Given the description of an element on the screen output the (x, y) to click on. 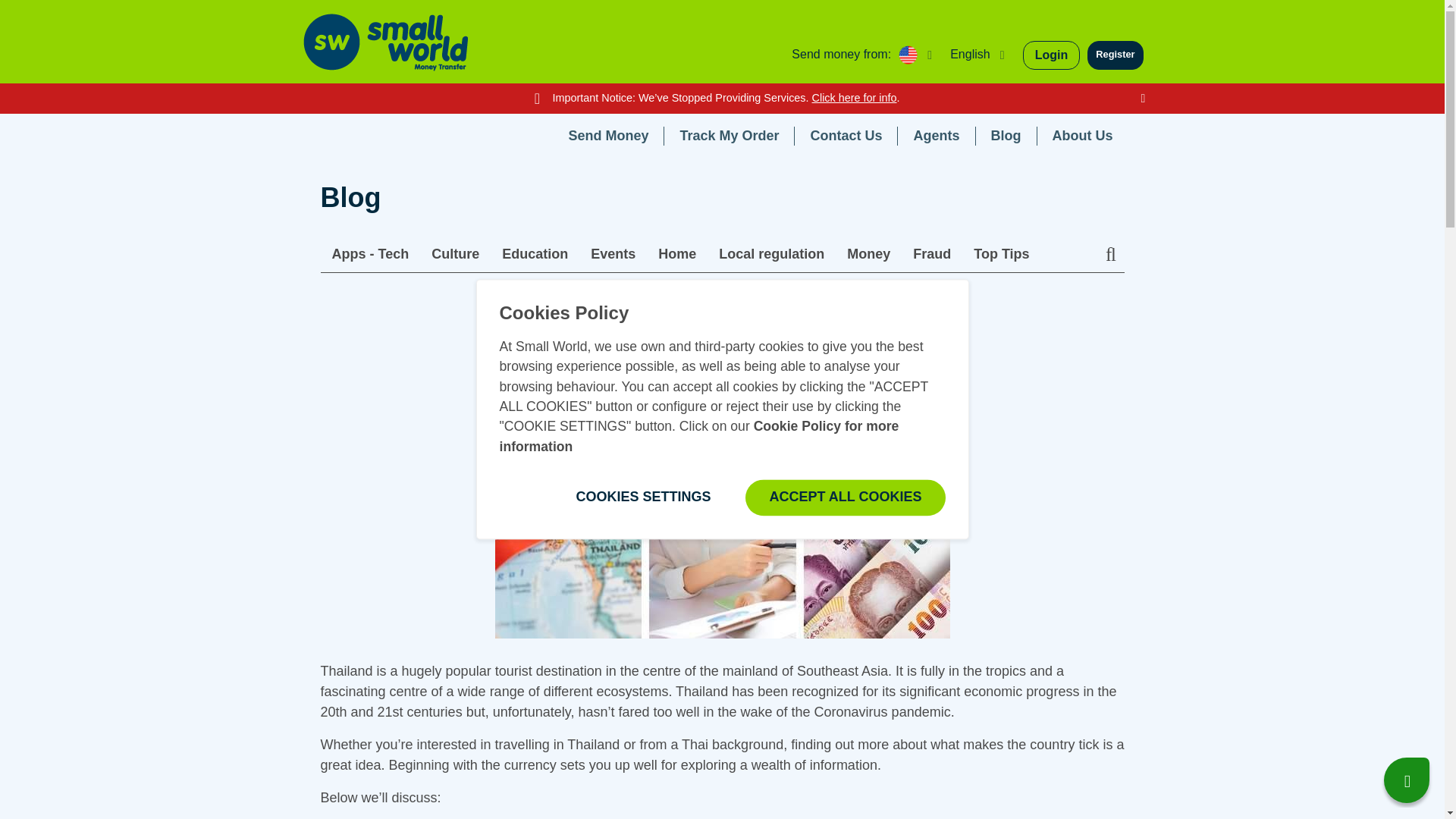
Money (769, 358)
Register (1114, 54)
English (980, 54)
small world money transfer (384, 41)
Login (1051, 54)
Send money from: (865, 54)
